Given the description of an element on the screen output the (x, y) to click on. 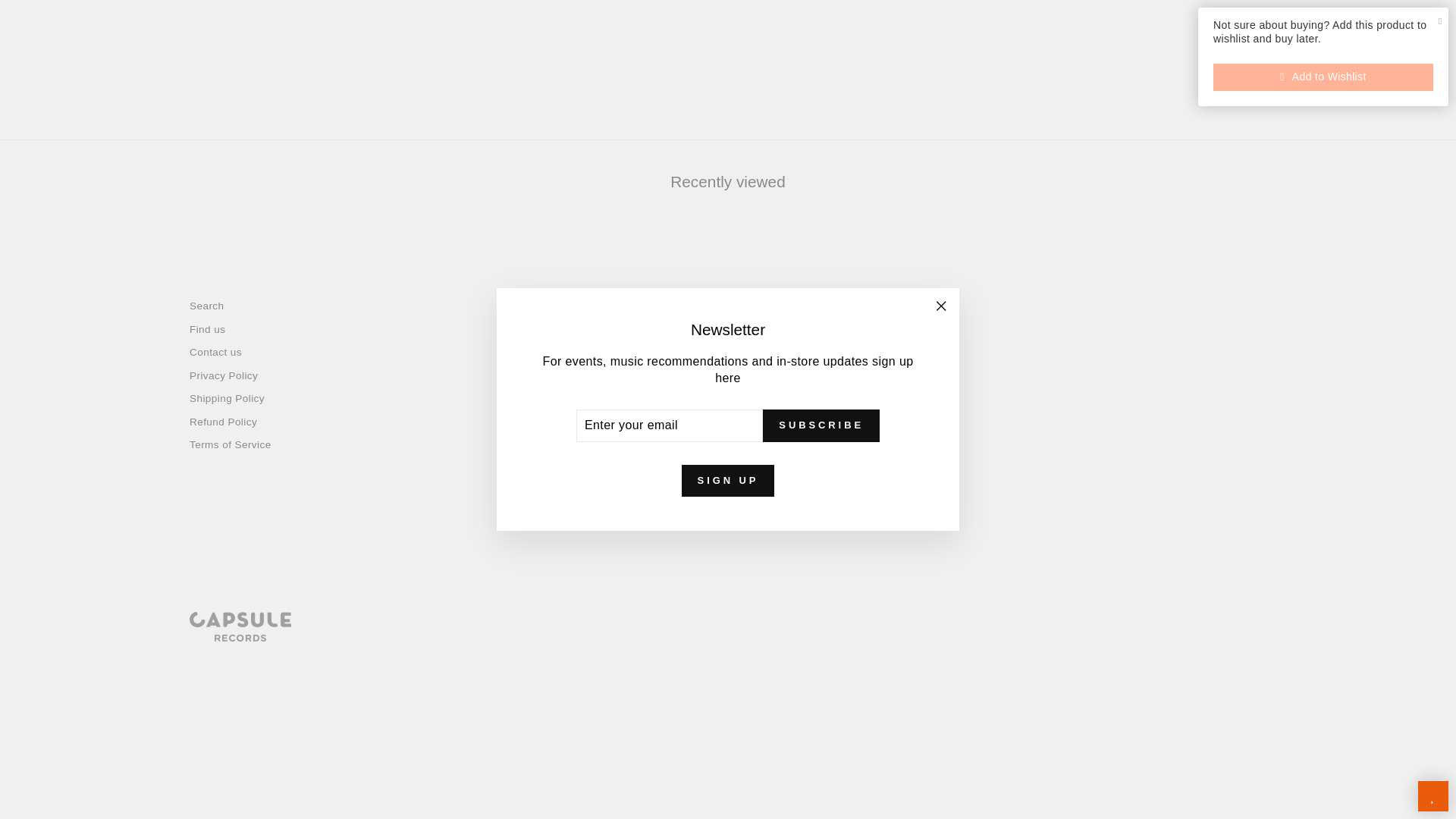
Union Pay (849, 688)
Visa (884, 688)
Apple Pay (605, 688)
Shop Pay (814, 688)
Diners Club (640, 688)
Discover (675, 688)
Google Pay (710, 688)
Maestro (745, 688)
American Express (570, 688)
Mastercard (779, 688)
